Given the description of an element on the screen output the (x, y) to click on. 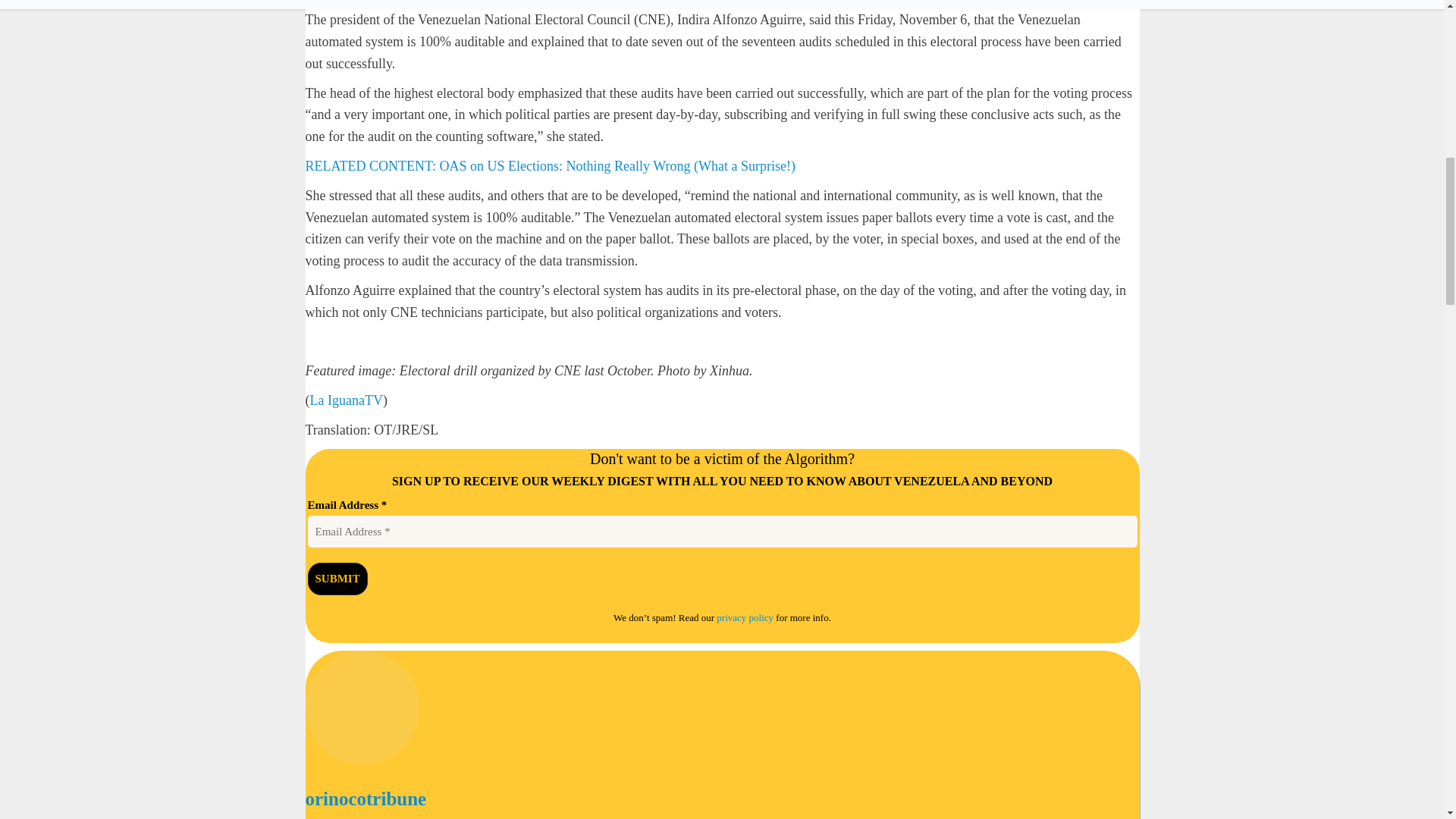
SUBMIT (337, 578)
